Given the description of an element on the screen output the (x, y) to click on. 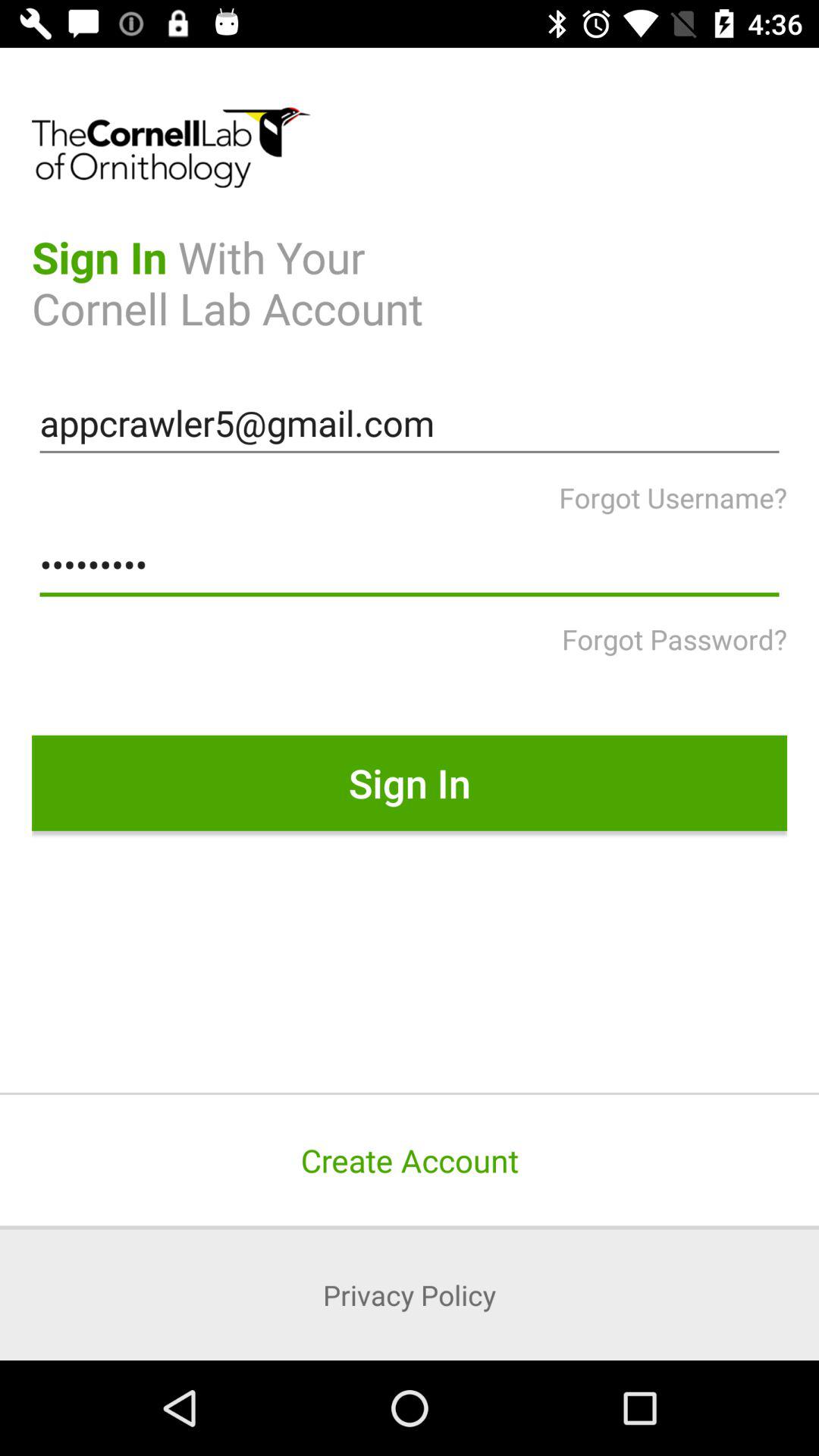
swipe to the privacy policy icon (409, 1294)
